Given the description of an element on the screen output the (x, y) to click on. 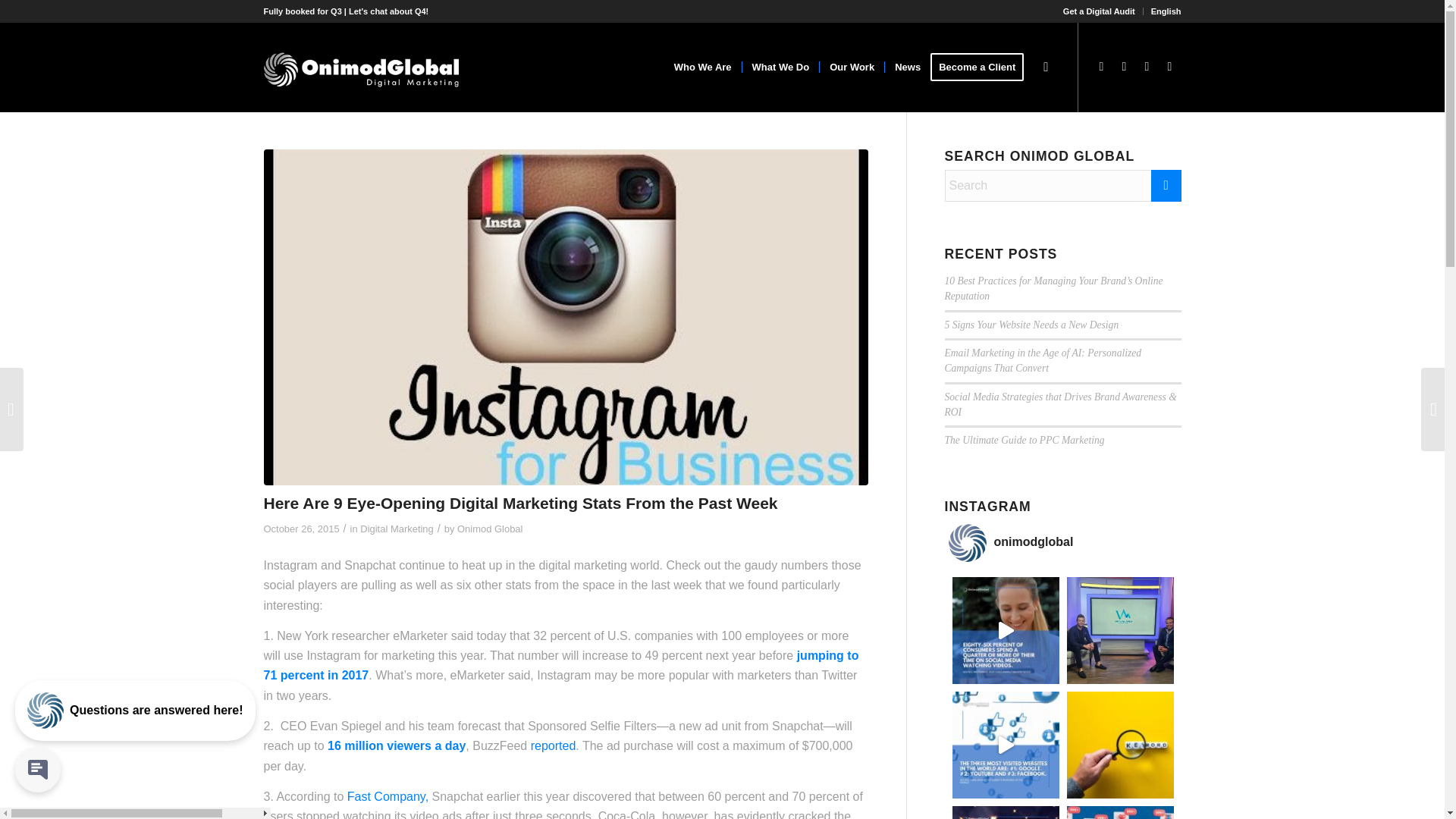
Posts by Onimod Global (489, 528)
English (1165, 11)
LinkedIn (1146, 66)
Let's chat about Q4! (388, 10)
Get a Digital Audit (1098, 11)
Digital Marketing (395, 528)
Facebook (1124, 66)
Fast Company, (387, 796)
Onimod Global (489, 528)
English (1165, 11)
X (1101, 66)
reported (553, 745)
Become a Client (981, 67)
Instagram (1169, 66)
